Given the description of an element on the screen output the (x, y) to click on. 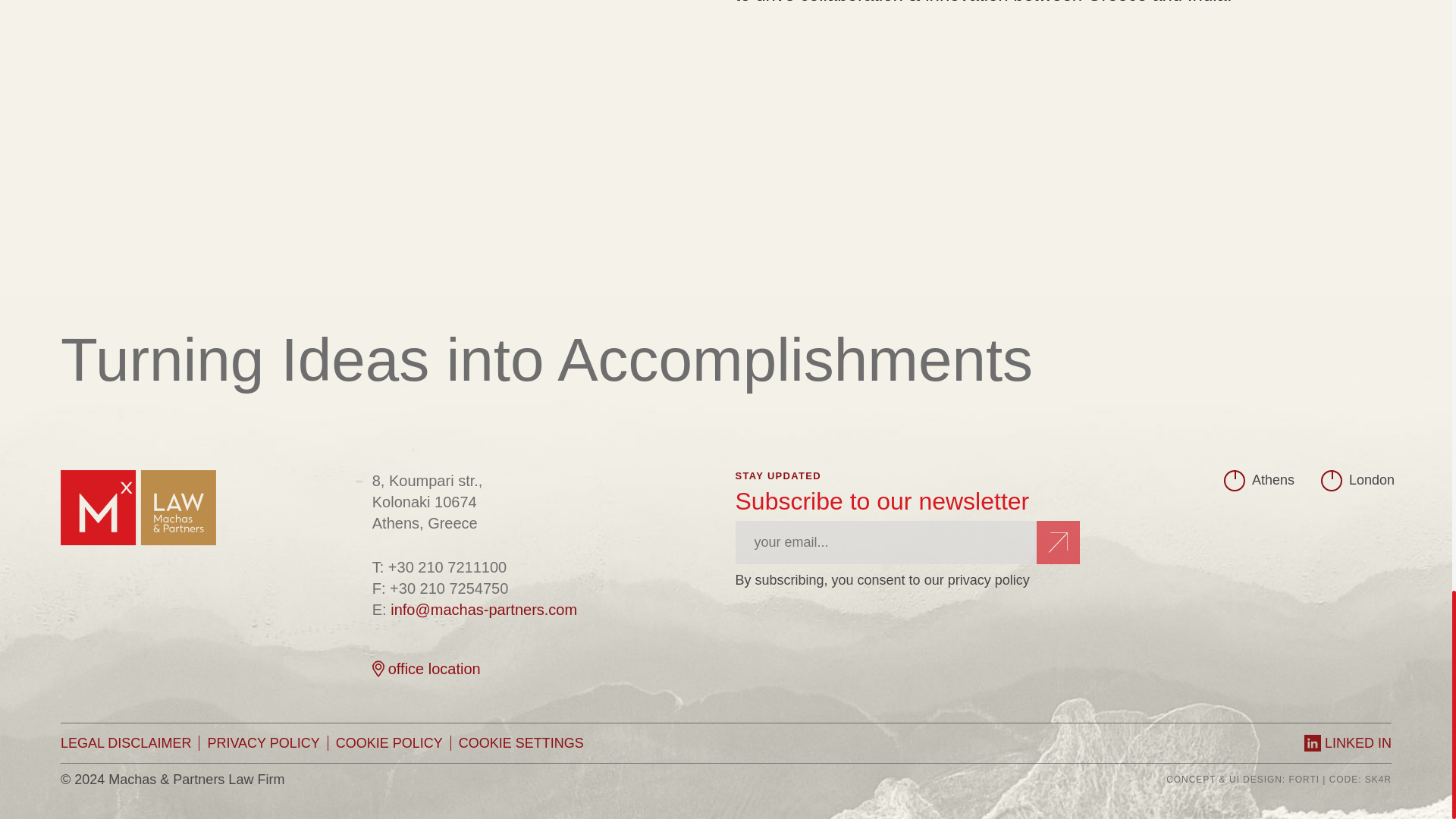
PRIVACY POLICY (270, 743)
FORTI (1303, 778)
SK4R (1378, 778)
LINKED IN (1347, 743)
LEGAL DISCLAIMER (133, 743)
office location (426, 668)
COOKIE POLICY (397, 743)
COOKIE SETTINGS (520, 743)
